Given the description of an element on the screen output the (x, y) to click on. 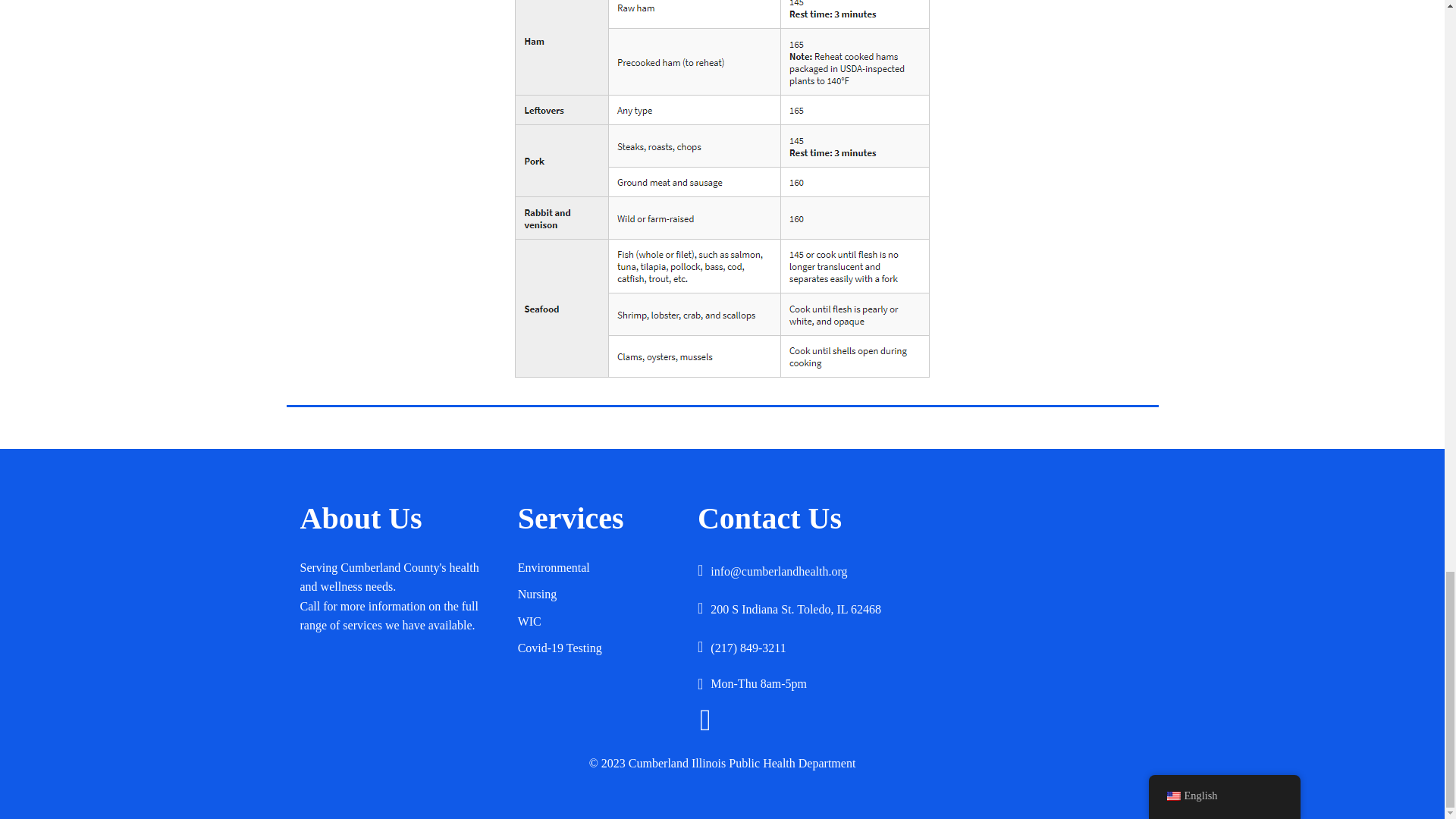
Nursing (600, 594)
Environmental (600, 567)
Covid-19 Testing (600, 647)
WIC (600, 621)
